Given the description of an element on the screen output the (x, y) to click on. 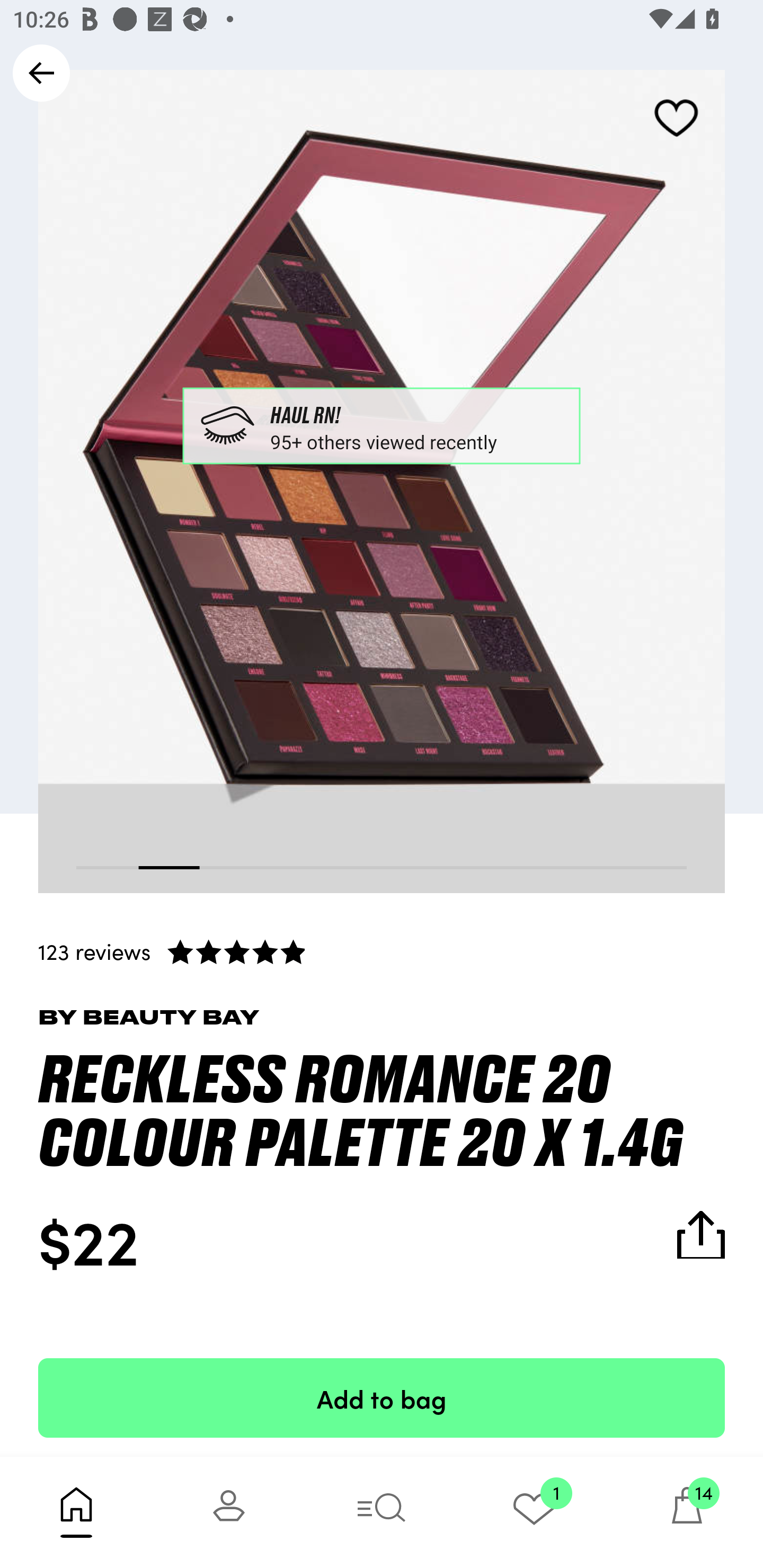
123 reviews (381, 950)
Add to bag (381, 1397)
1 (533, 1512)
14 (686, 1512)
